Given the description of an element on the screen output the (x, y) to click on. 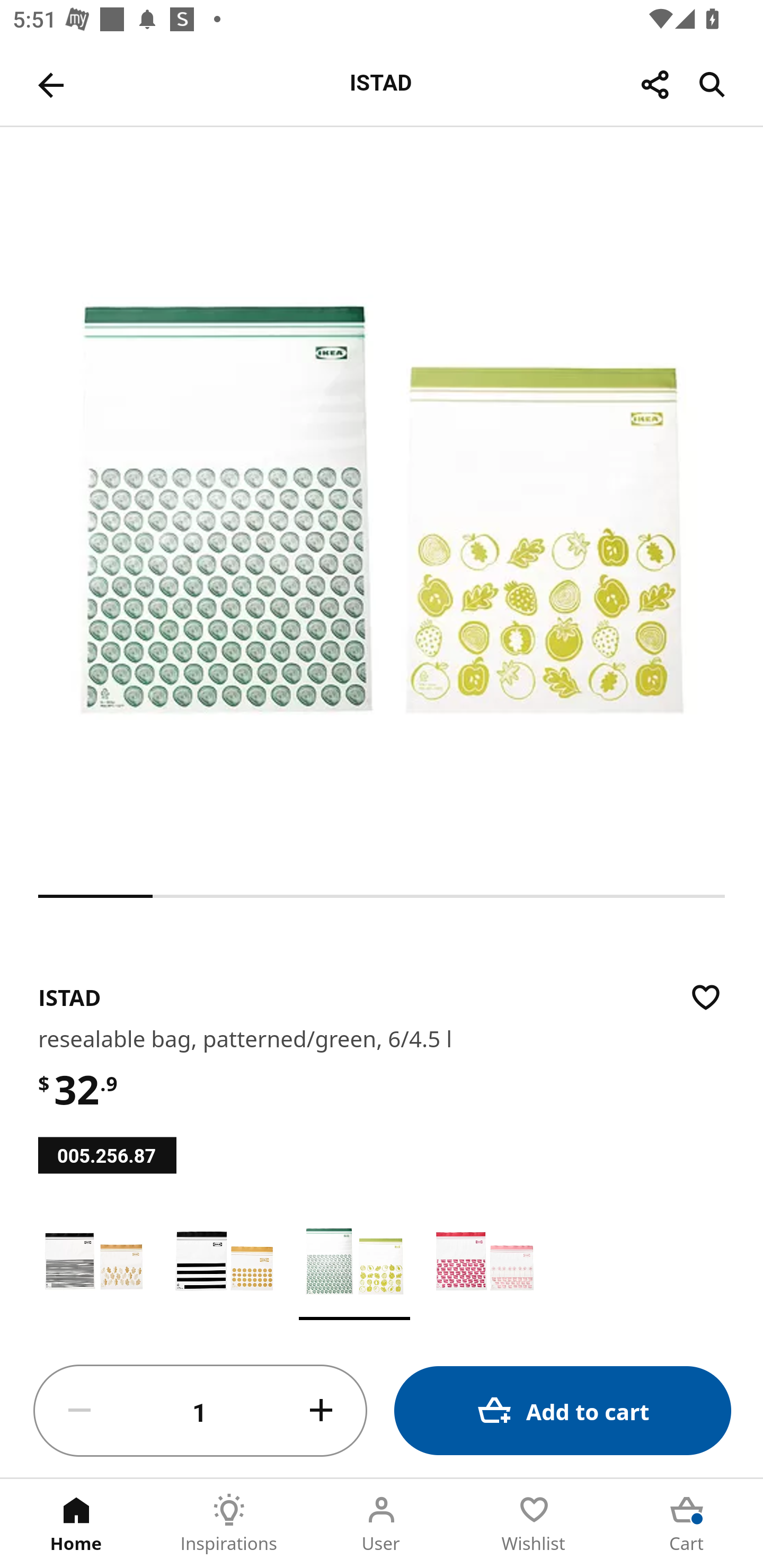
Add to cart (562, 1410)
1 (200, 1411)
Home
Tab 1 of 5 (76, 1522)
Inspirations
Tab 2 of 5 (228, 1522)
User
Tab 3 of 5 (381, 1522)
Wishlist
Tab 4 of 5 (533, 1522)
Cart
Tab 5 of 5 (686, 1522)
